Given the description of an element on the screen output the (x, y) to click on. 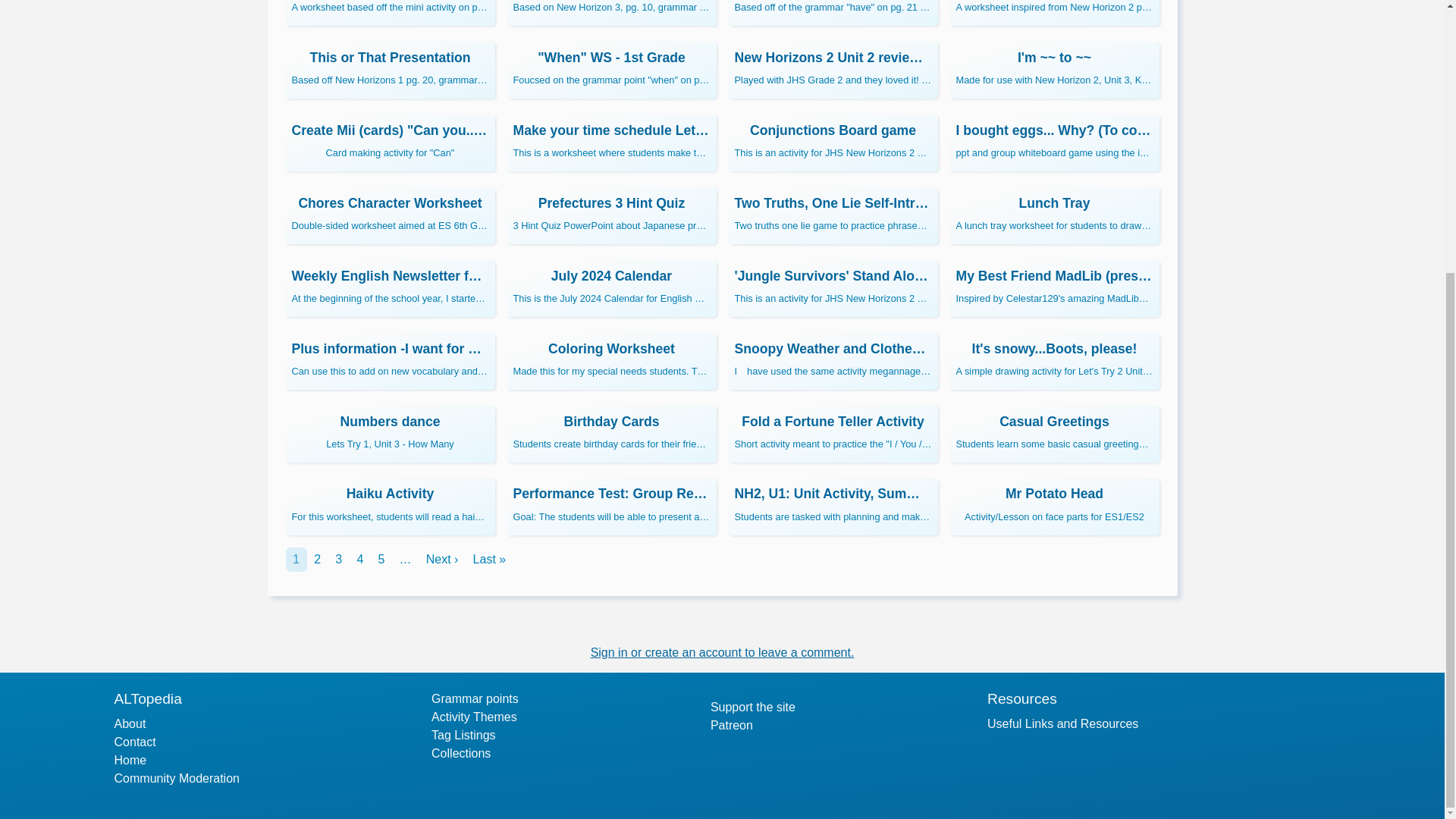
A worksheet inspired from New Horizon 2 pg. 11 (1053, 12)
Based on New Horizon 3, pg. 10, grammar "Have you ever" (611, 12)
Based off of the grammar "have" on pg. 21 in New Horizons 3  (832, 12)
